Given the description of an element on the screen output the (x, y) to click on. 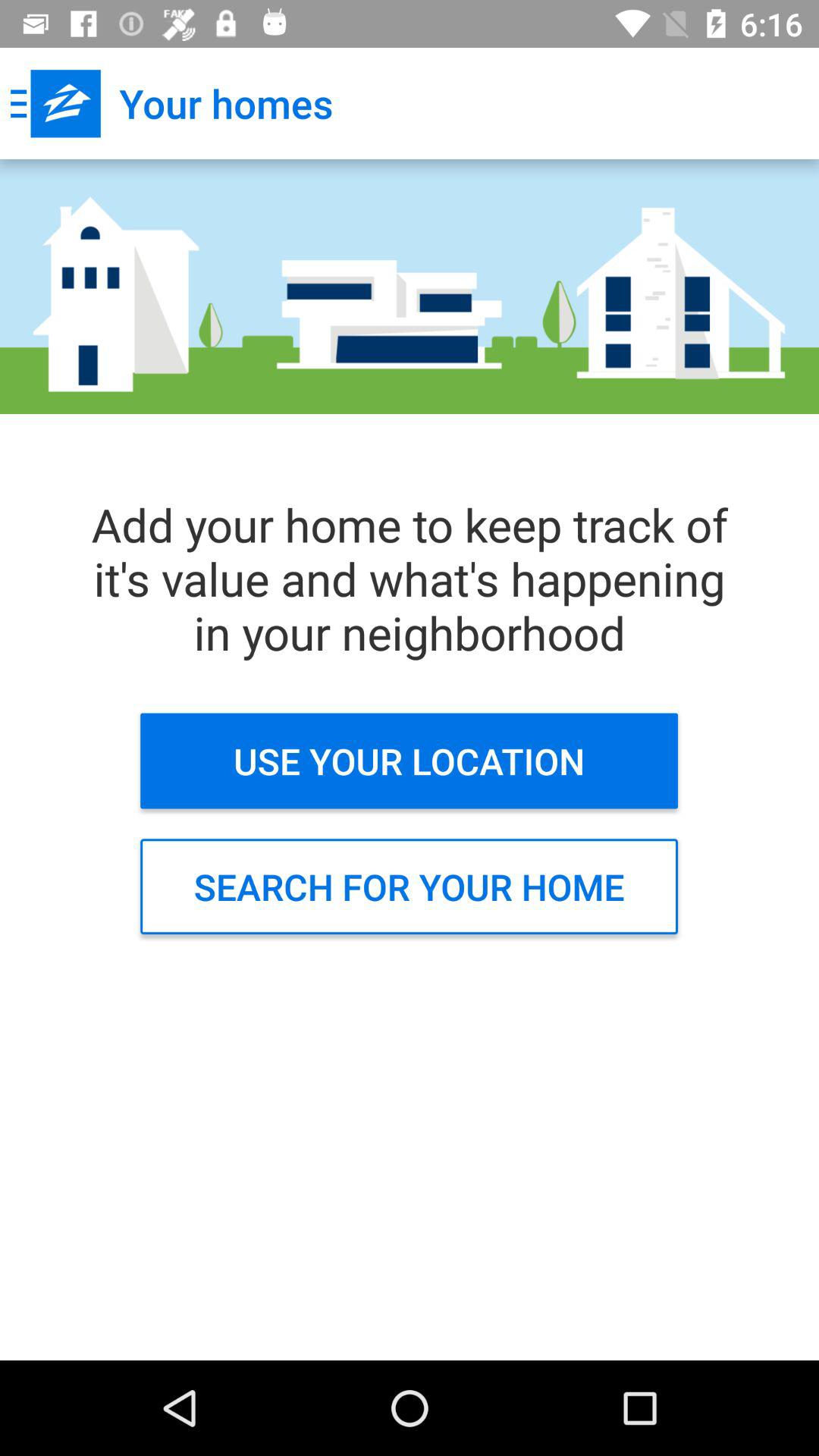
flip to search for your (408, 886)
